Given the description of an element on the screen output the (x, y) to click on. 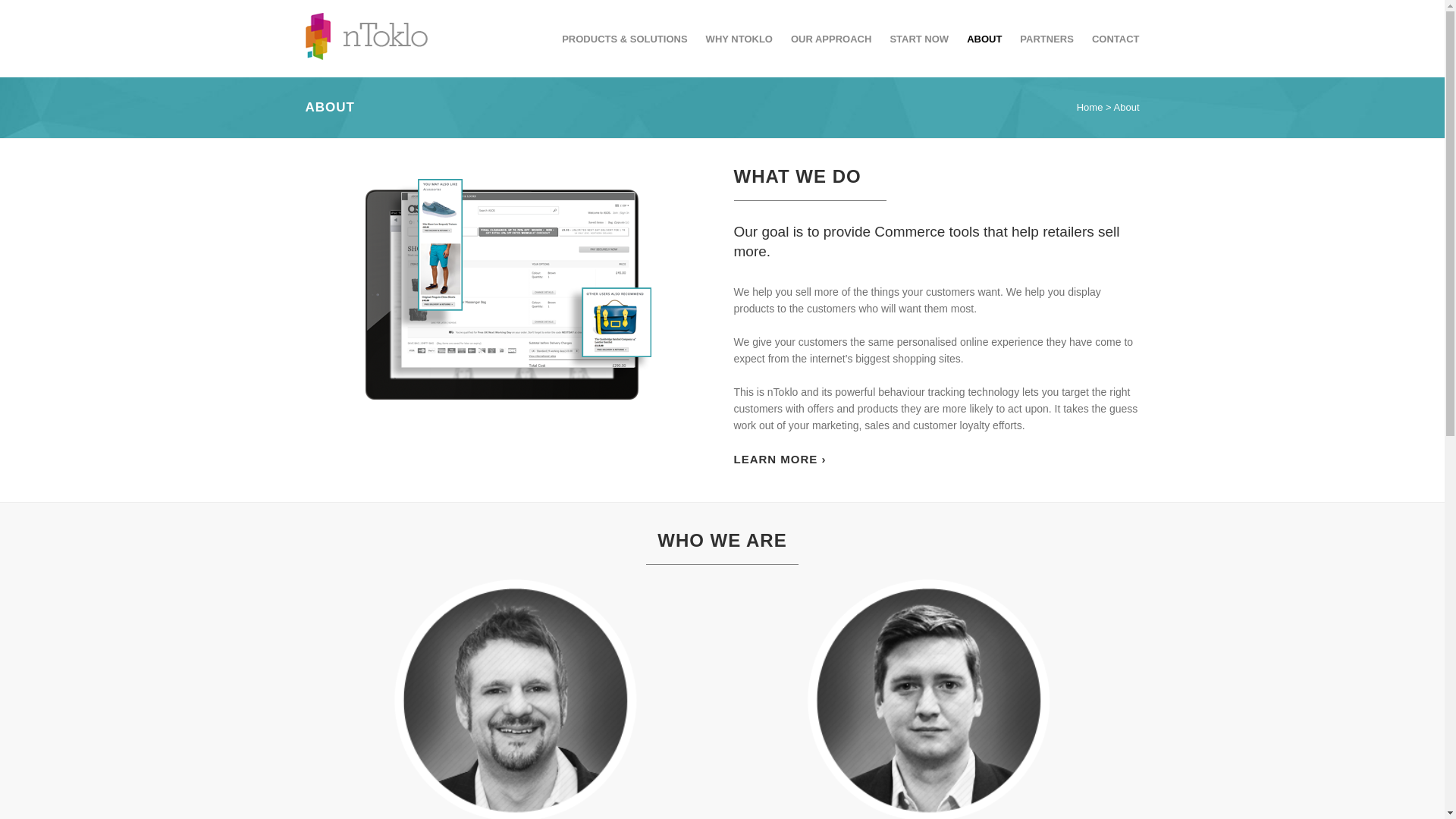
Home (1090, 107)
CONTACT (1111, 38)
About (541, 618)
OUR APPROACH (830, 38)
PARTNERS (1046, 38)
Why nToklo (780, 459)
Start Now (550, 599)
Partners (547, 638)
For Developers (338, 744)
START NOW (919, 38)
We Are Hiring (559, 697)
WHY NTOKLO (739, 38)
Pricing (544, 677)
Contact (546, 658)
Our Approach (559, 579)
